Given the description of an element on the screen output the (x, y) to click on. 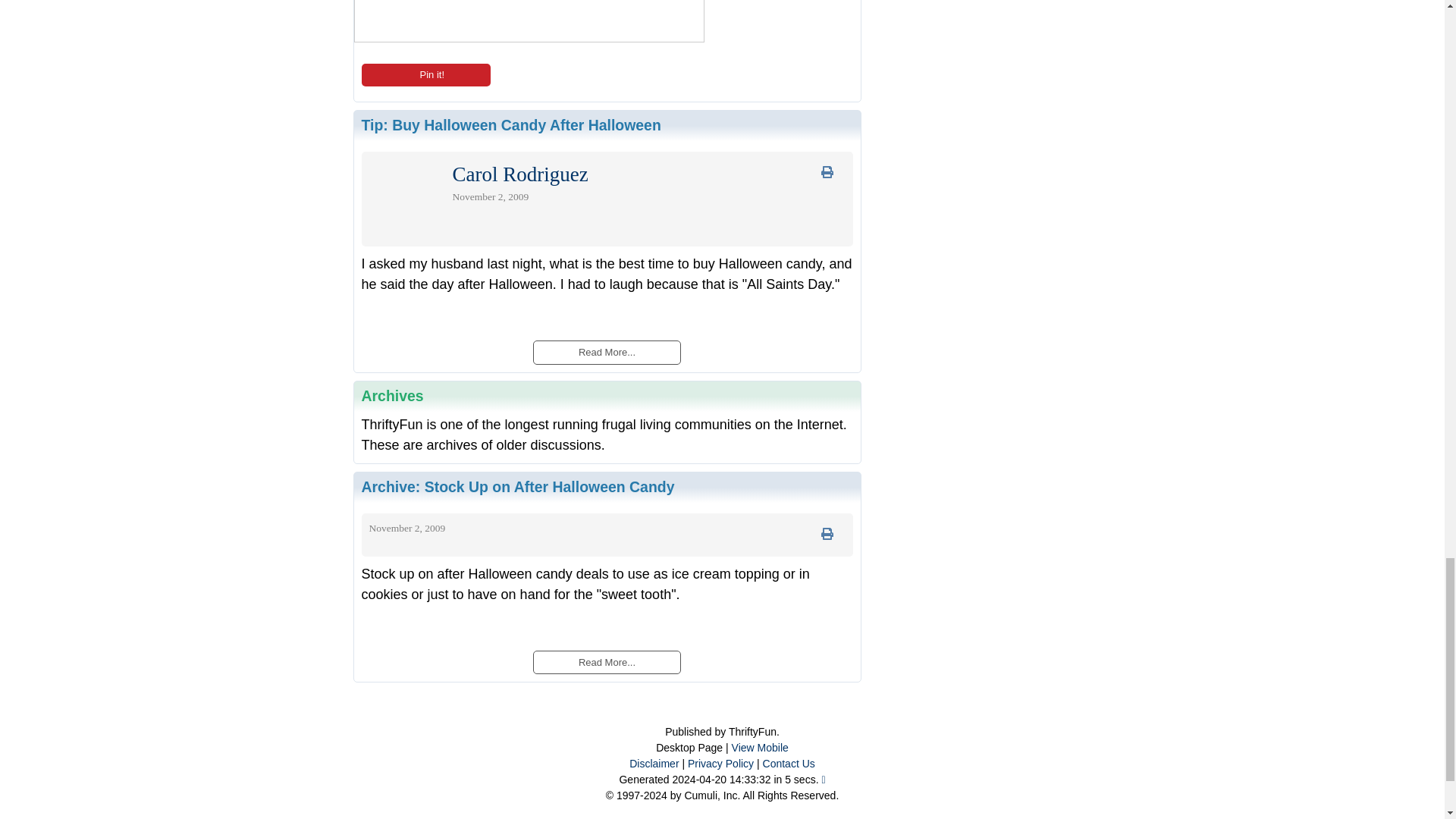
Read More... (605, 350)
Archive: Stock Up on After Halloween Candy (517, 486)
 Pin it! (425, 74)
Tip: Buy Halloween Candy After Halloween (511, 125)
Carol Rodriguez (519, 177)
Read More... (605, 661)
